Given the description of an element on the screen output the (x, y) to click on. 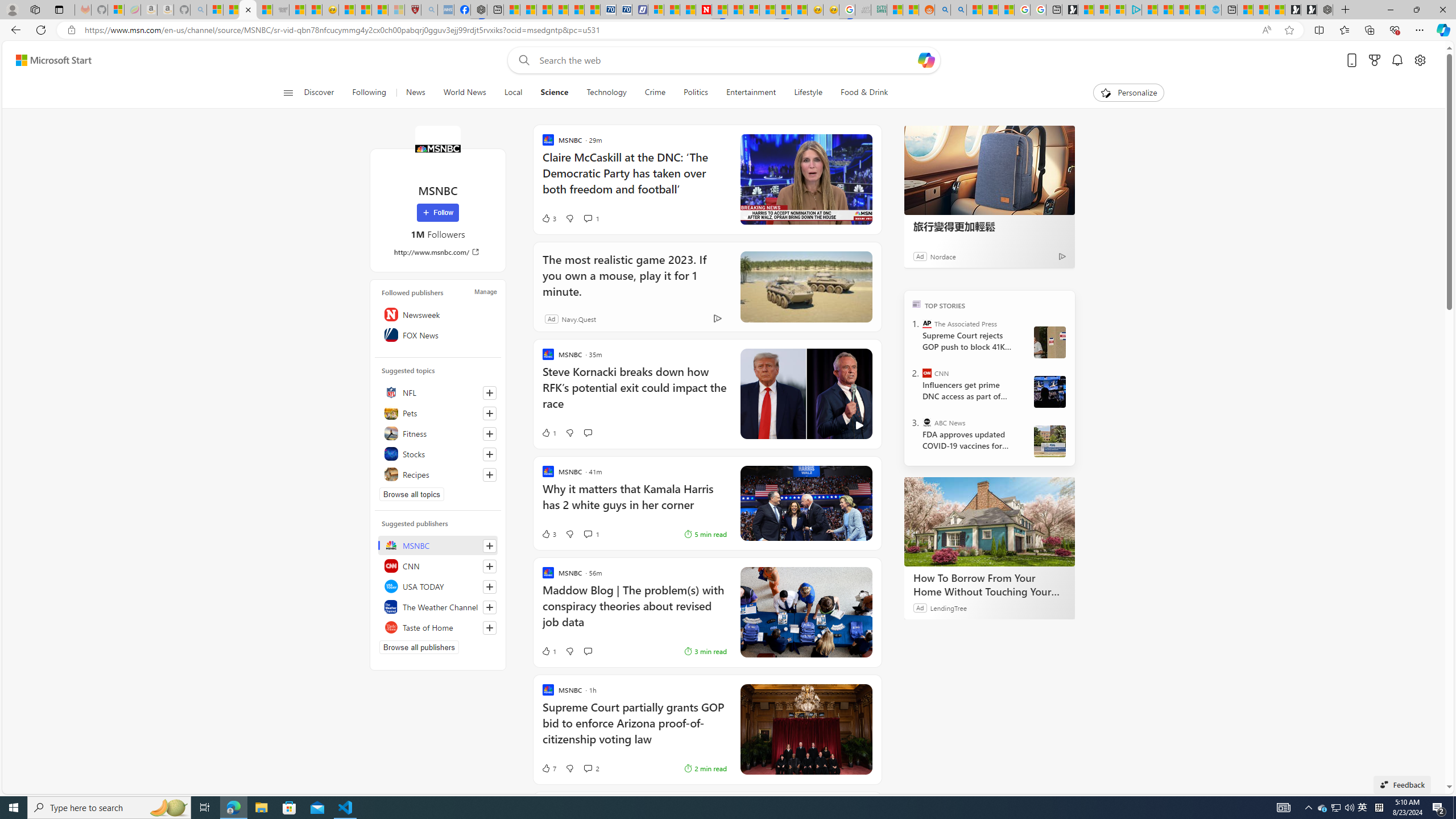
Follow this source (489, 627)
1 Like (547, 650)
Cheap Hotels - Save70.com (624, 9)
The Associated Press (927, 323)
Food & Drink (864, 92)
Dislike (569, 768)
Fitness (437, 433)
MSNBC - MSN (894, 9)
Class: button-glyph (287, 92)
